Given the description of an element on the screen output the (x, y) to click on. 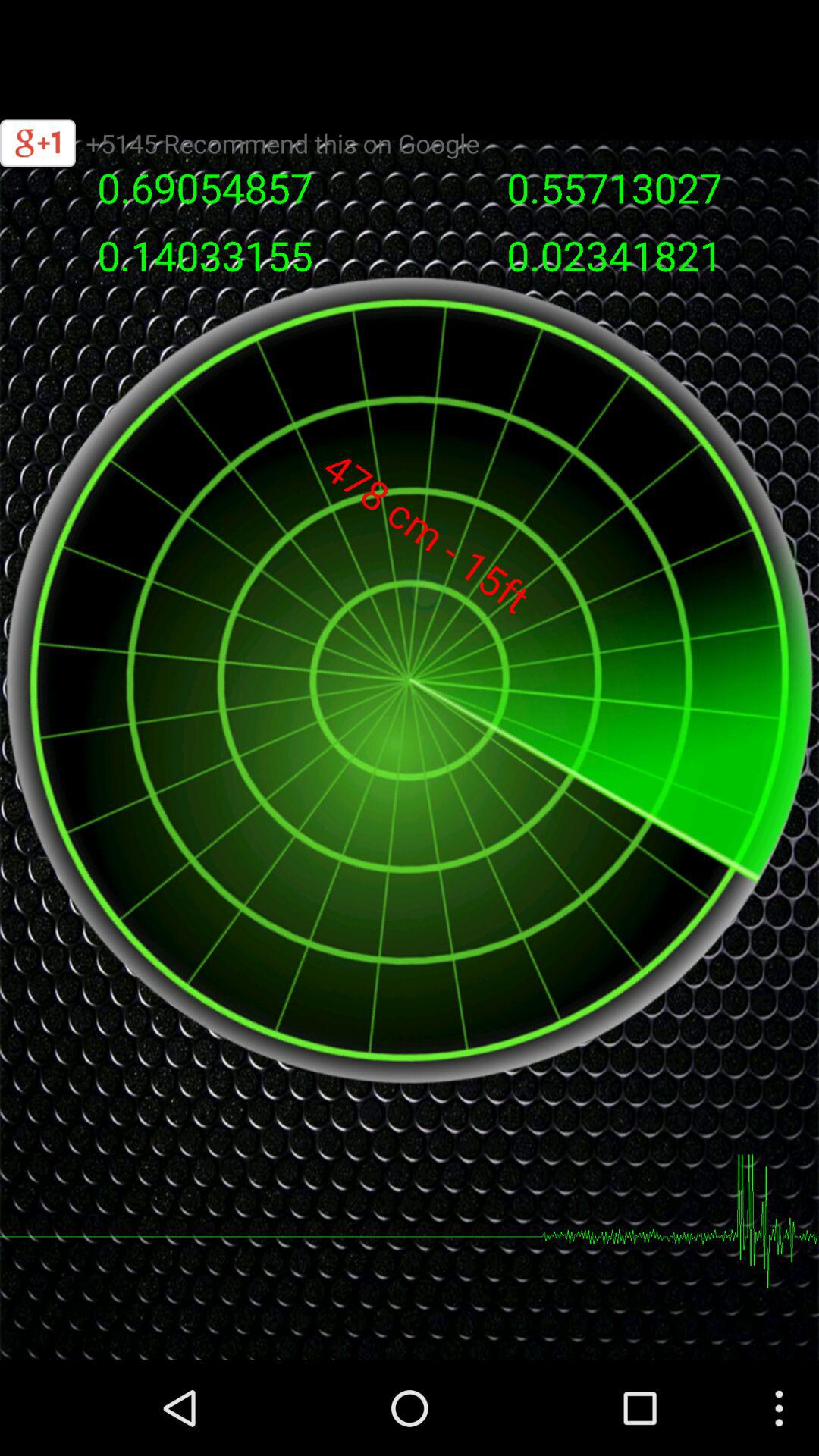
go to advertisements website (409, 49)
